Given the description of an element on the screen output the (x, y) to click on. 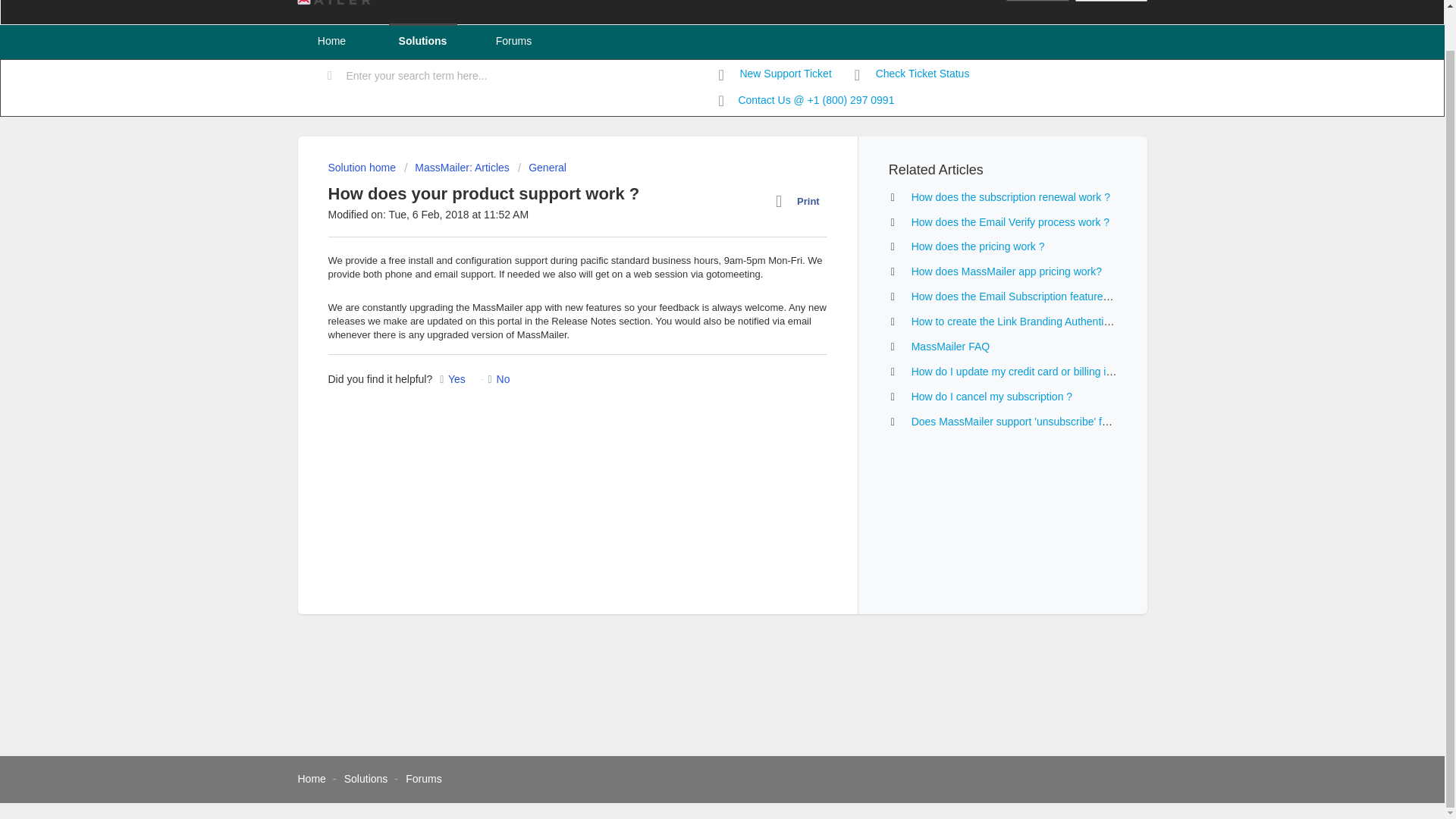
How do I update my credit card or billing information ? (1038, 371)
Solutions (365, 778)
How does the Email Verify process work ? (1010, 222)
How does MassMailer app pricing work? (1006, 271)
Chat (1406, 736)
MassMailer: Articles (456, 167)
Solution home (362, 167)
New Support Ticket (775, 73)
How does the pricing work ? (978, 246)
